Given the description of an element on the screen output the (x, y) to click on. 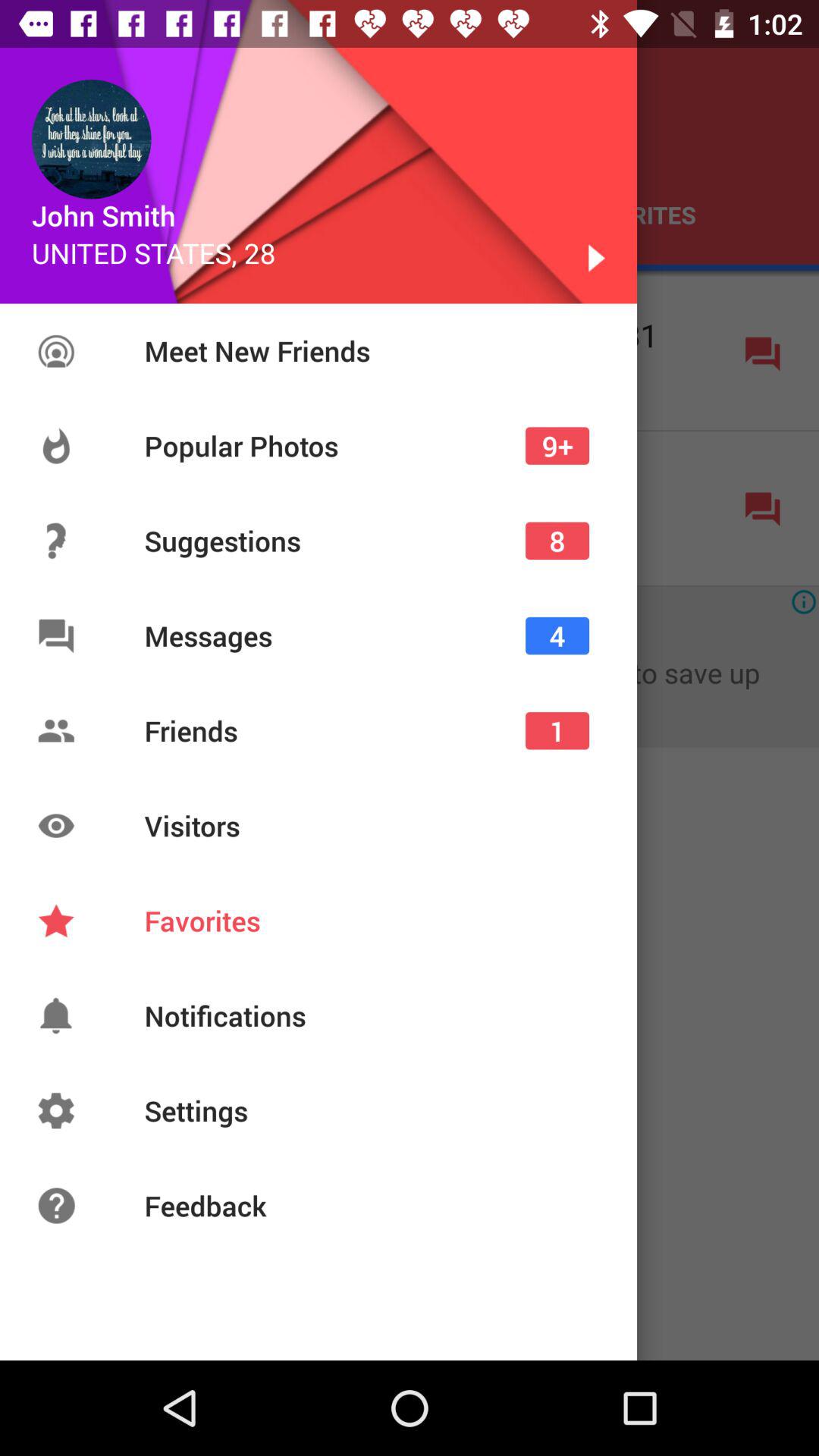
go to the icon present in right of second row (762, 509)
